Given the description of an element on the screen output the (x, y) to click on. 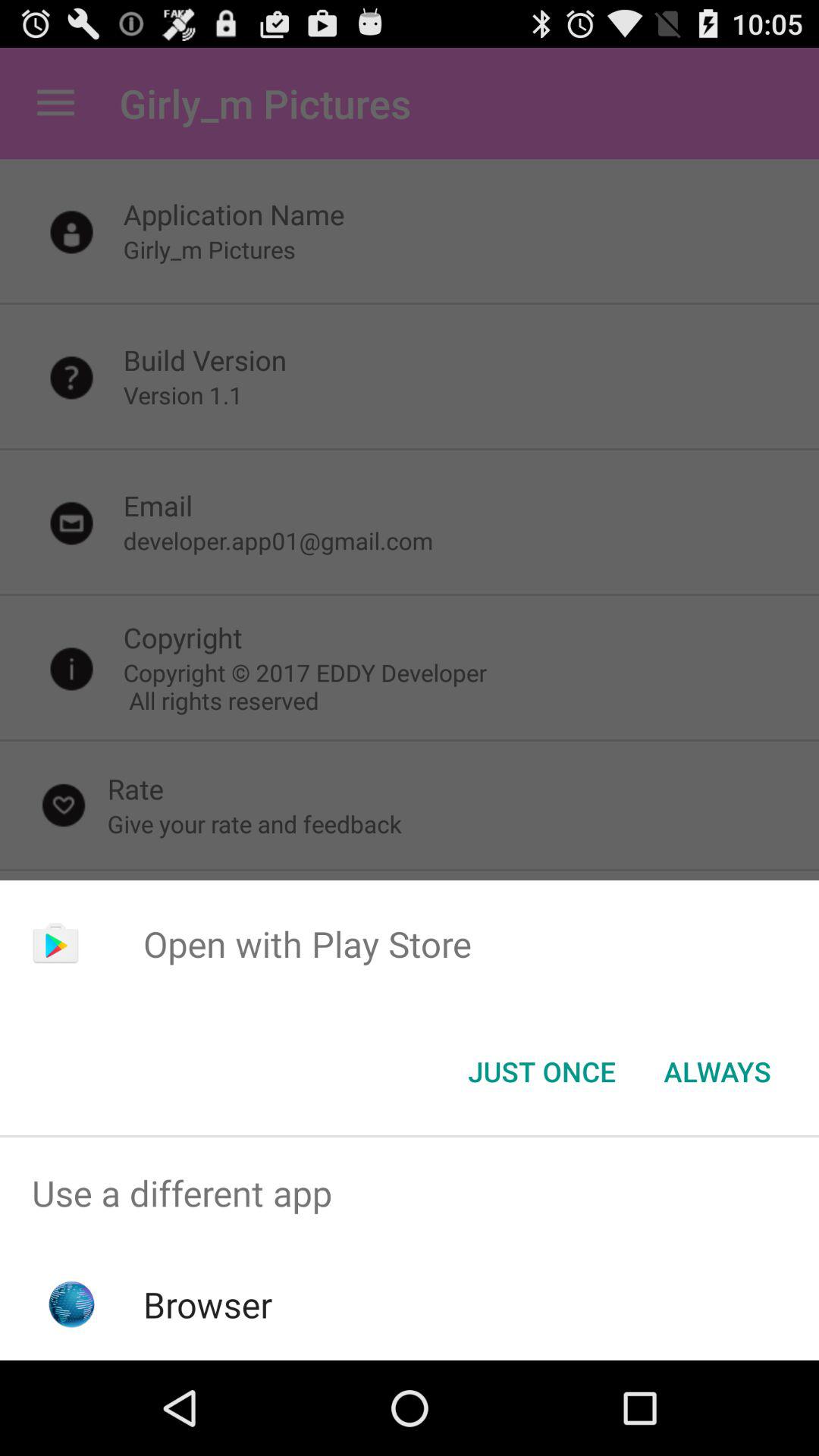
flip until the use a different item (409, 1192)
